Given the description of an element on the screen output the (x, y) to click on. 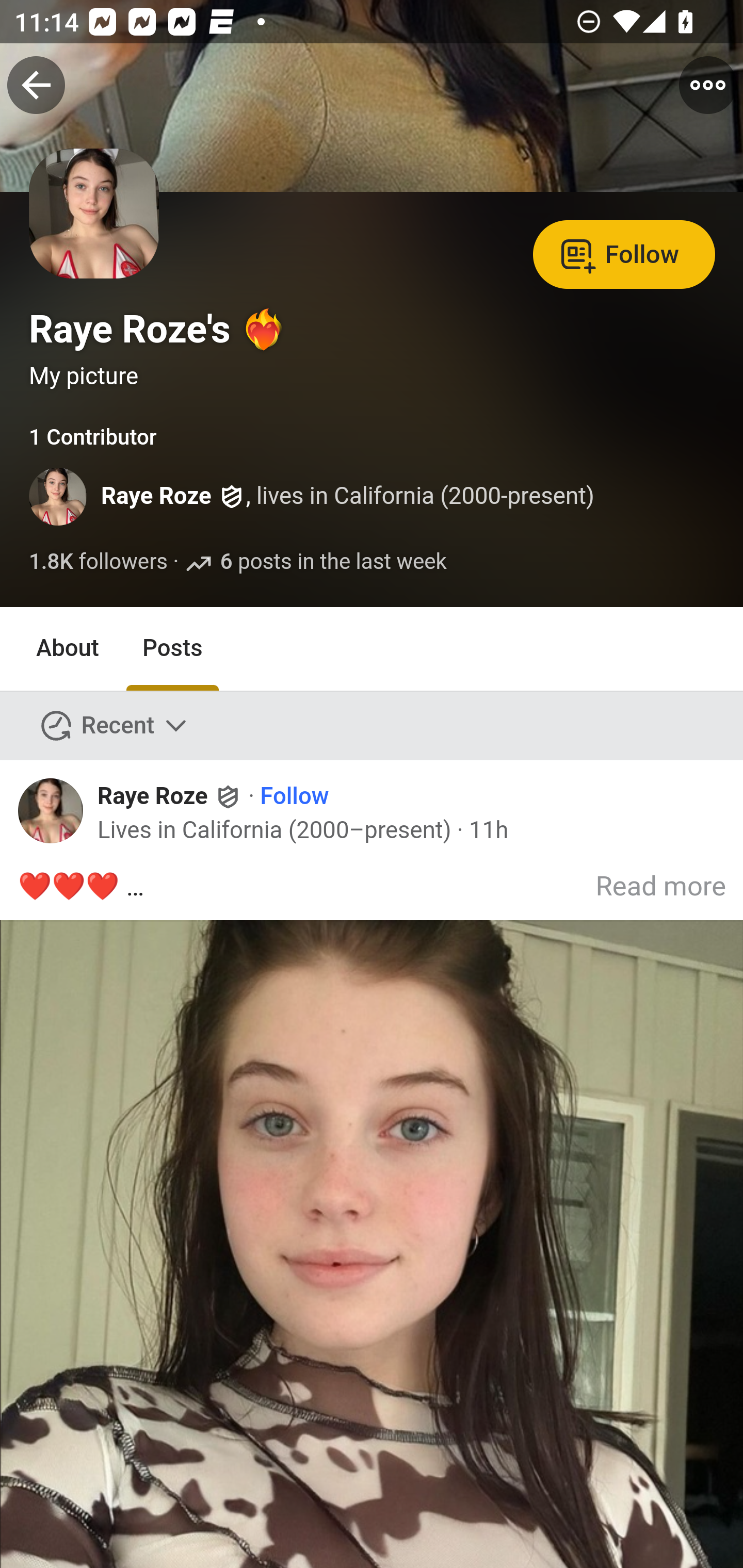
Follow (623, 252)
Raye Roze's ❤️‍🔥 (158, 329)
Profile photo for Raye Roze (58, 496)
Raye Roze (157, 496)
1.8K followers (98, 562)
About (68, 648)
Posts (171, 648)
Recent (113, 725)
Profile photo for Raye Roze (50, 810)
Raye Roze Raye Roze   (170, 795)
Follow (294, 796)
❤❤❤   … Read more (372, 1217)
